Given the description of an element on the screen output the (x, y) to click on. 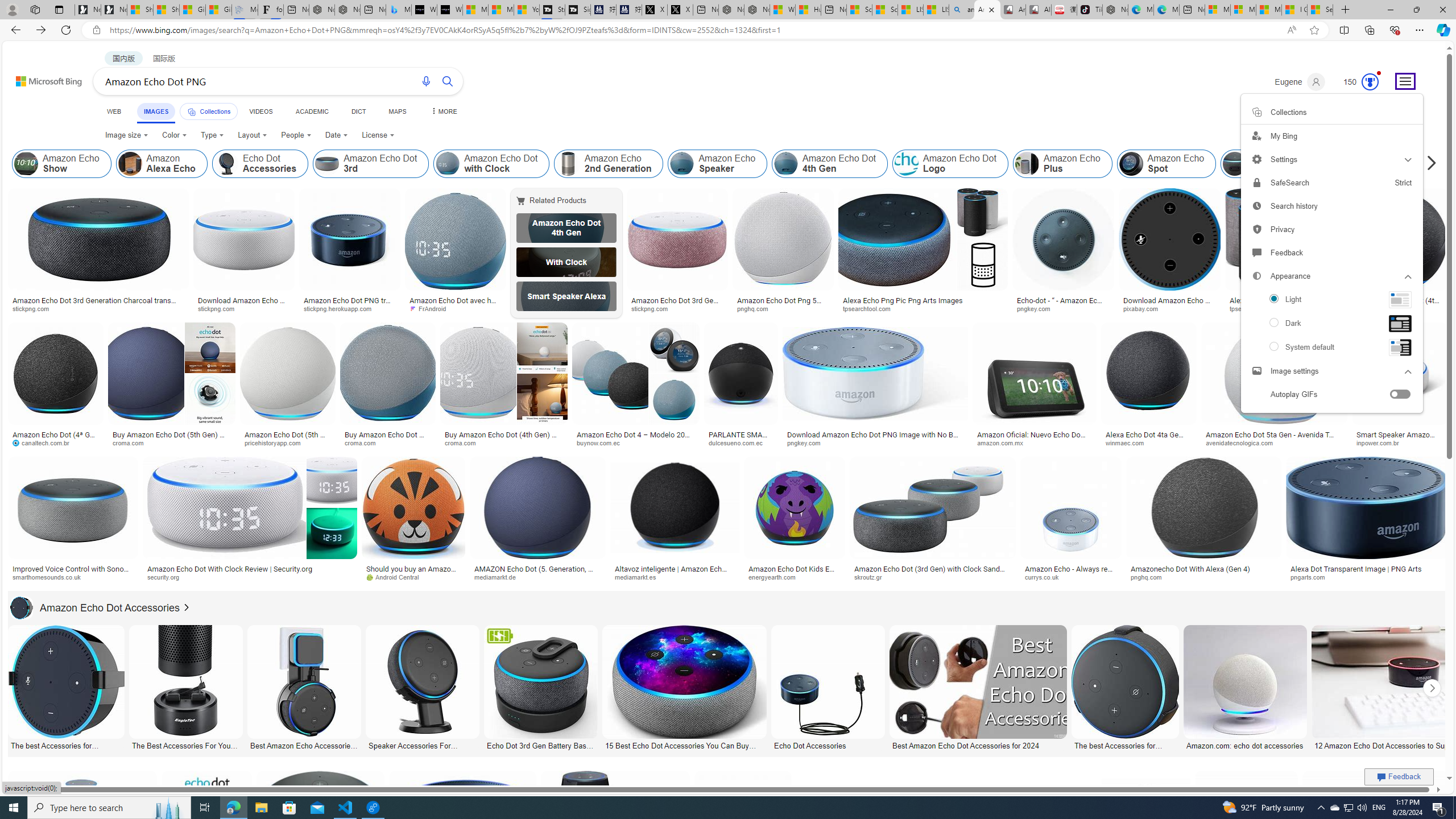
stickpng.com (653, 308)
Improved Voice Control with Sonos & Alexa Echo devices (72, 572)
Filter (1395, 107)
Forward (40, 29)
Layout (252, 135)
Amazonecho Dot With Alexa (Gen 4) (1203, 568)
croma.com (463, 442)
MAPS (397, 111)
Image size (127, 135)
